Given the description of an element on the screen output the (x, y) to click on. 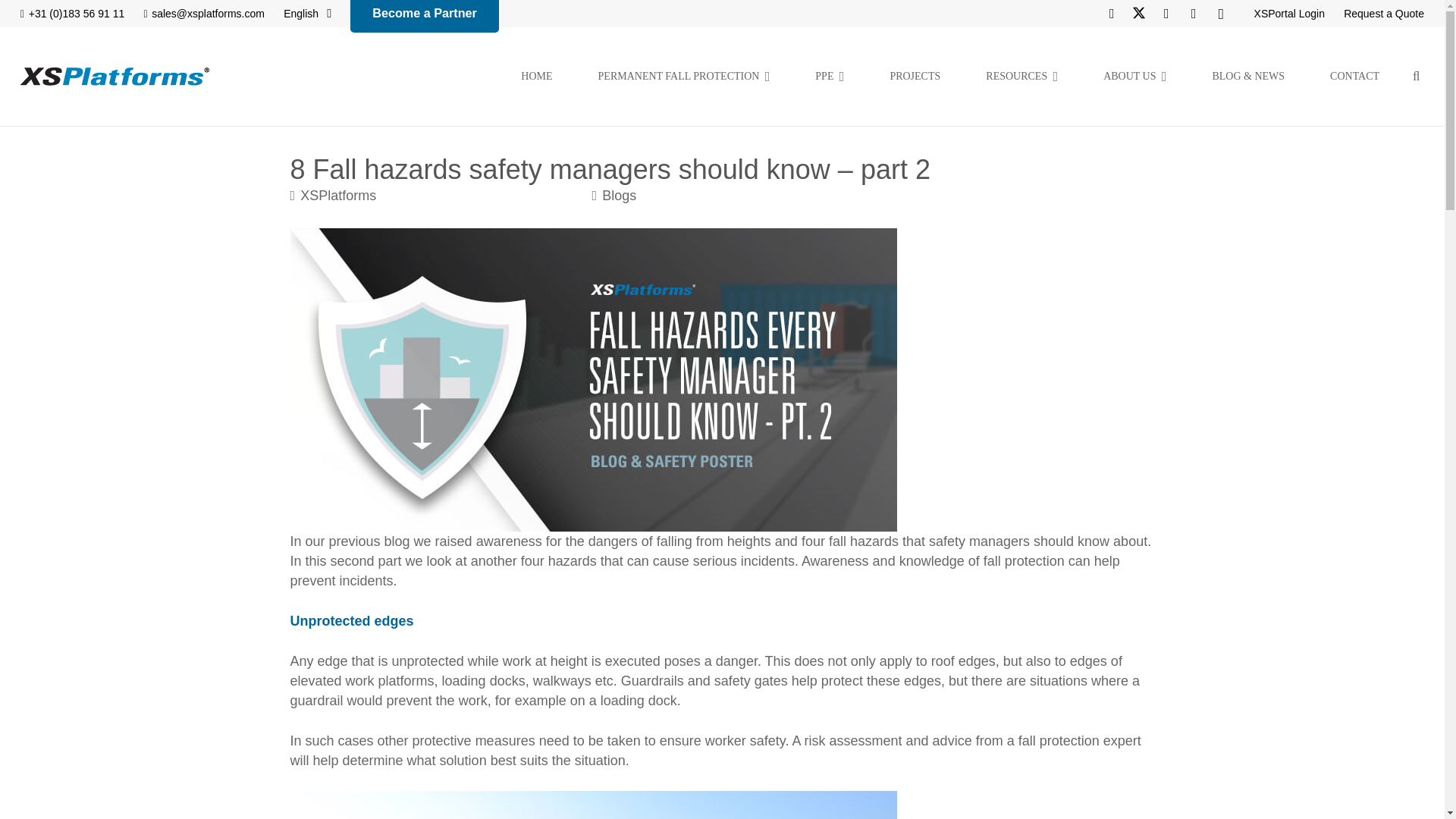
Instagram (1220, 13)
XSPortal Login (1288, 13)
Request a Quote (1383, 13)
English (307, 13)
Twitter (1139, 13)
Become a Partner (424, 15)
YouTube (1193, 13)
PERMANENT FALL PROTECTION (684, 76)
Facebook (1111, 13)
LinkedIn (1166, 13)
